Given the description of an element on the screen output the (x, y) to click on. 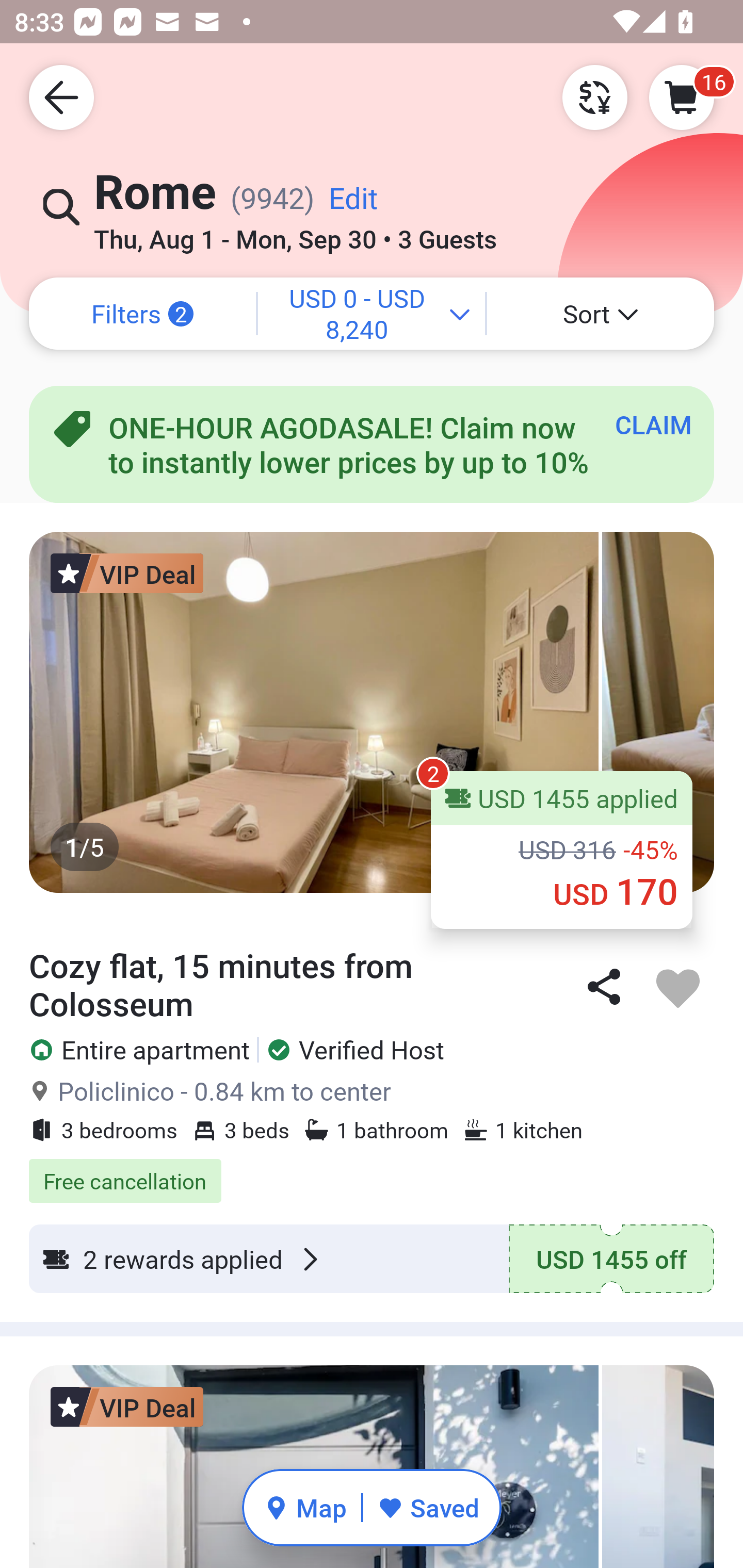
Filters 2 (141, 313)
⁦USD 0⁩ - ⁦USD 8,240⁩ (371, 313)
Sort (600, 313)
CLAIM (653, 424)
VIP Deal (126, 572)
1/5 (371, 711)
USD 1455 applied ‪USD 316 -45% ‪USD 170 2 (561, 849)
Free cancellation (371, 1170)
2 rewards applied USD 1455 off (371, 1259)
VIP Deal (126, 1407)
Map (305, 1507)
Saved (428, 1507)
